Given the description of an element on the screen output the (x, y) to click on. 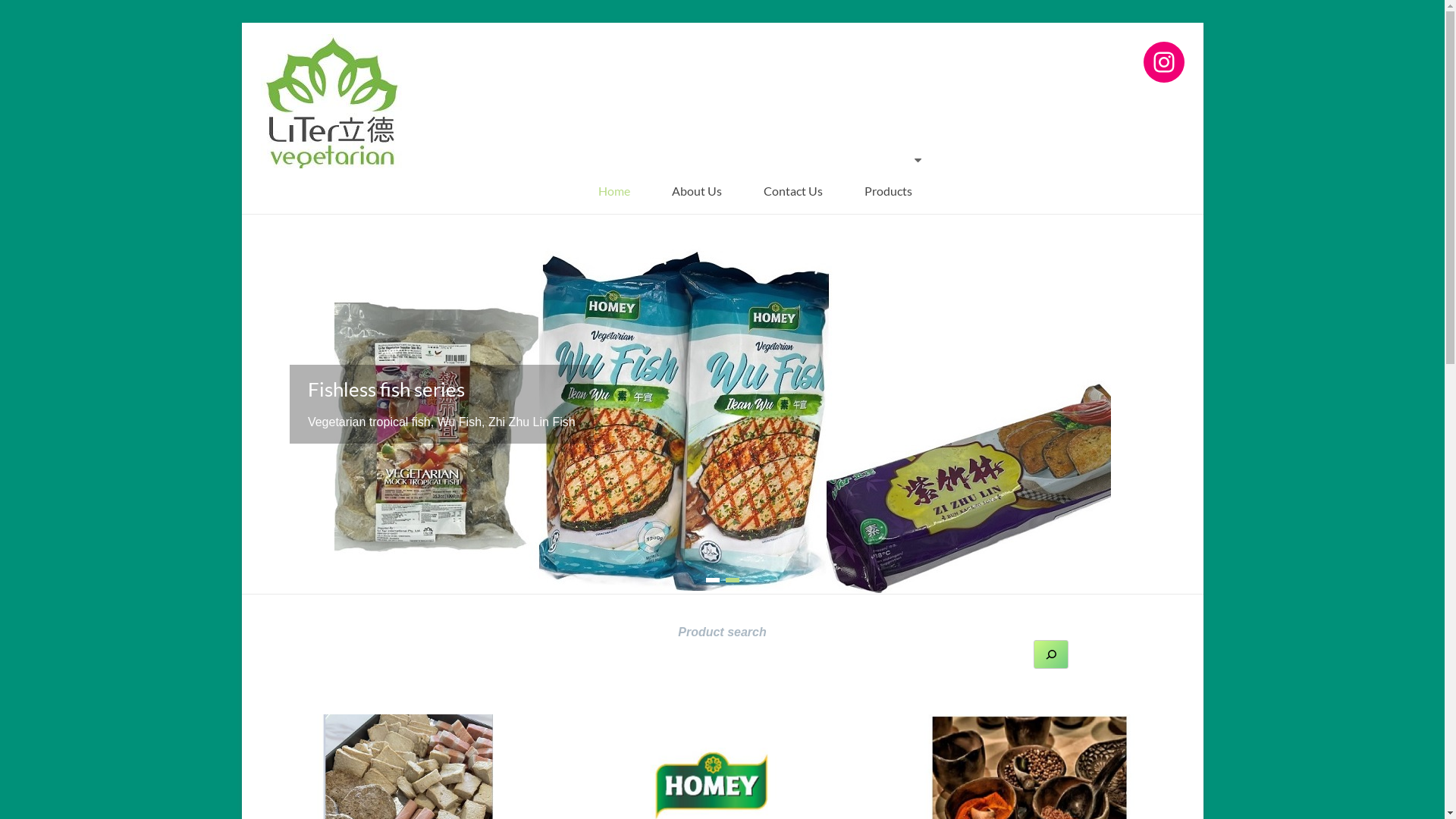
About Us Element type: text (696, 190)
Instagram Element type: text (1163, 61)
LiTer Vegetarian Element type: text (324, 68)
Products Element type: text (888, 190)
Skip to content Element type: text (241, 21)
Home Element type: text (614, 190)
Fishless fish series Element type: text (385, 388)
Contact Us Element type: text (792, 190)
